Given the description of an element on the screen output the (x, y) to click on. 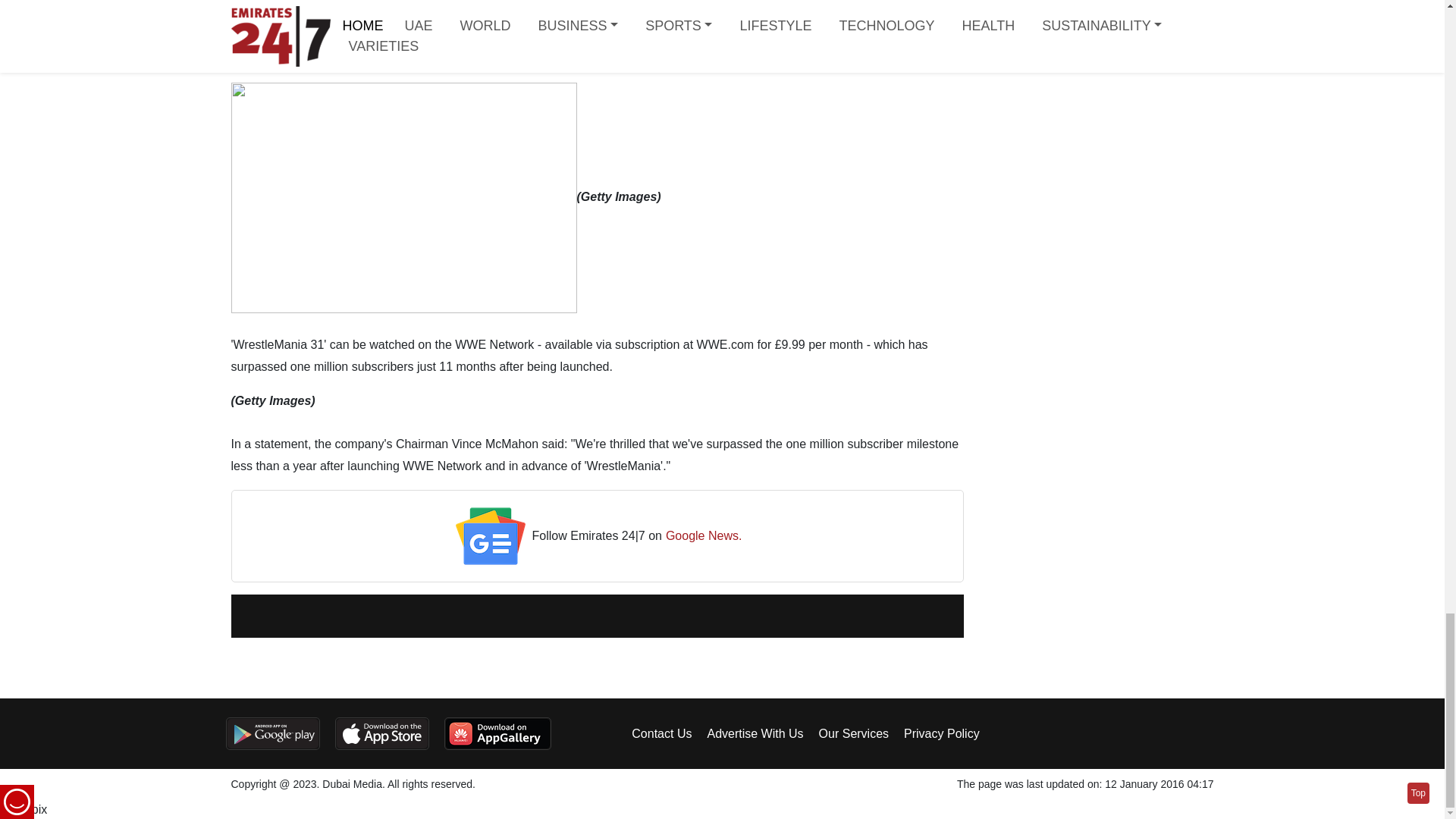
Google News. (703, 536)
